Given the description of an element on the screen output the (x, y) to click on. 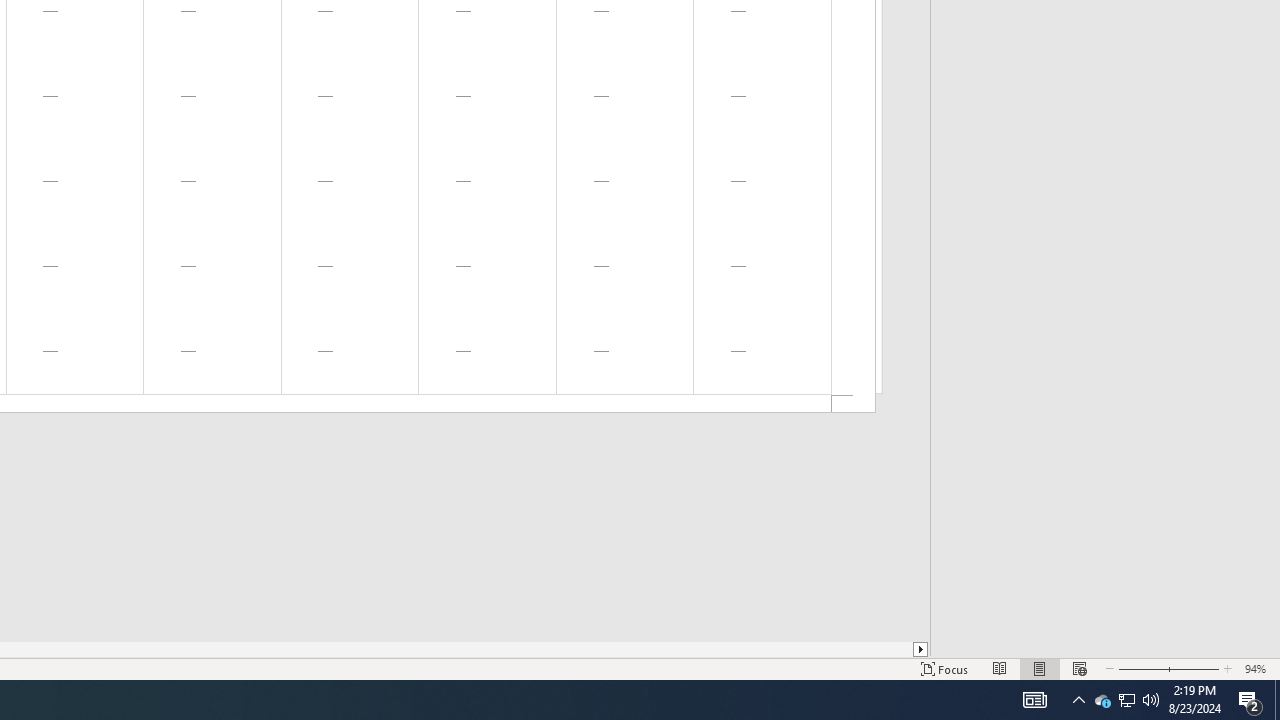
Column right (921, 649)
